Given the description of an element on the screen output the (x, y) to click on. 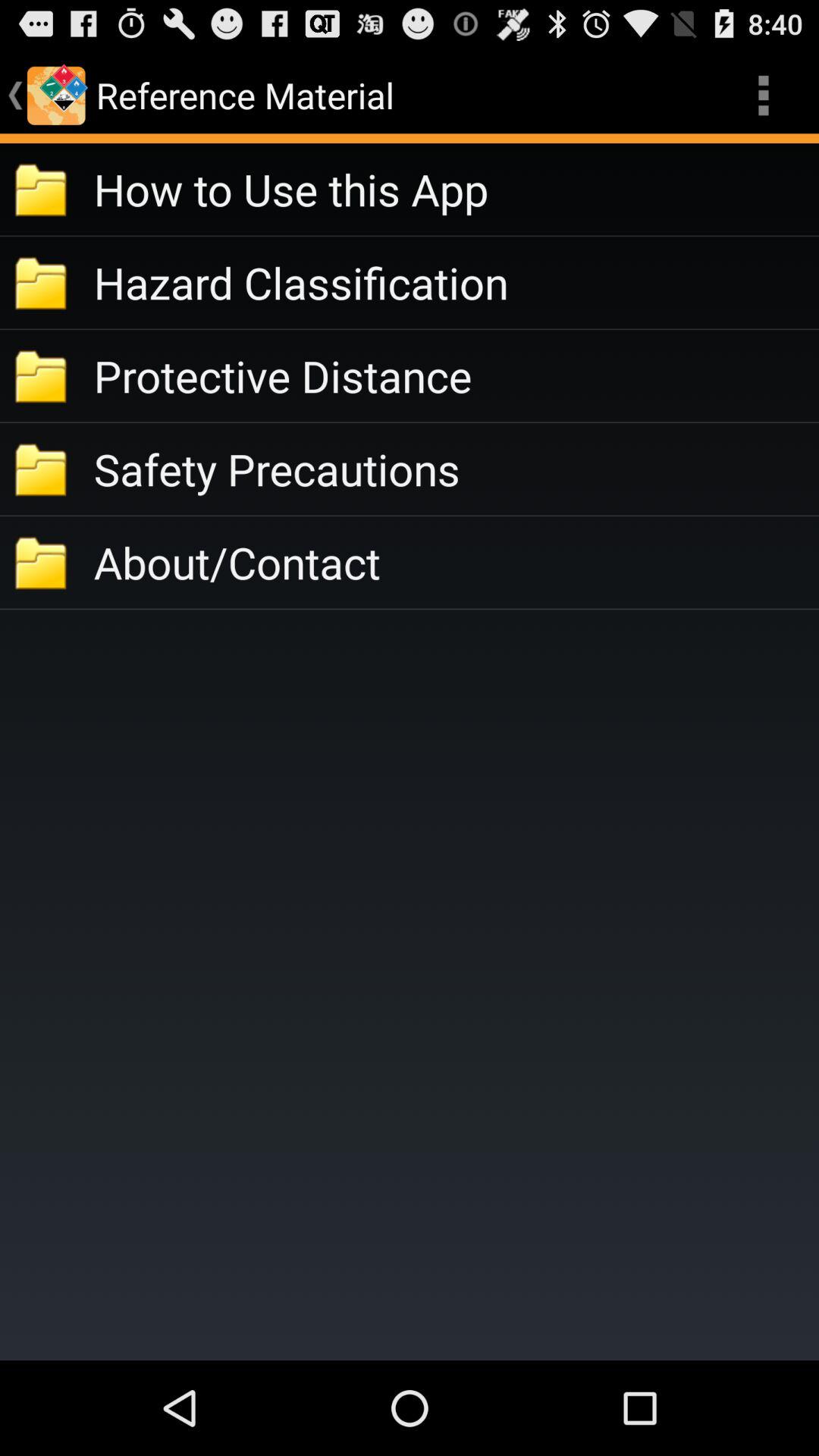
open the hazard classification item (456, 282)
